Given the description of an element on the screen output the (x, y) to click on. 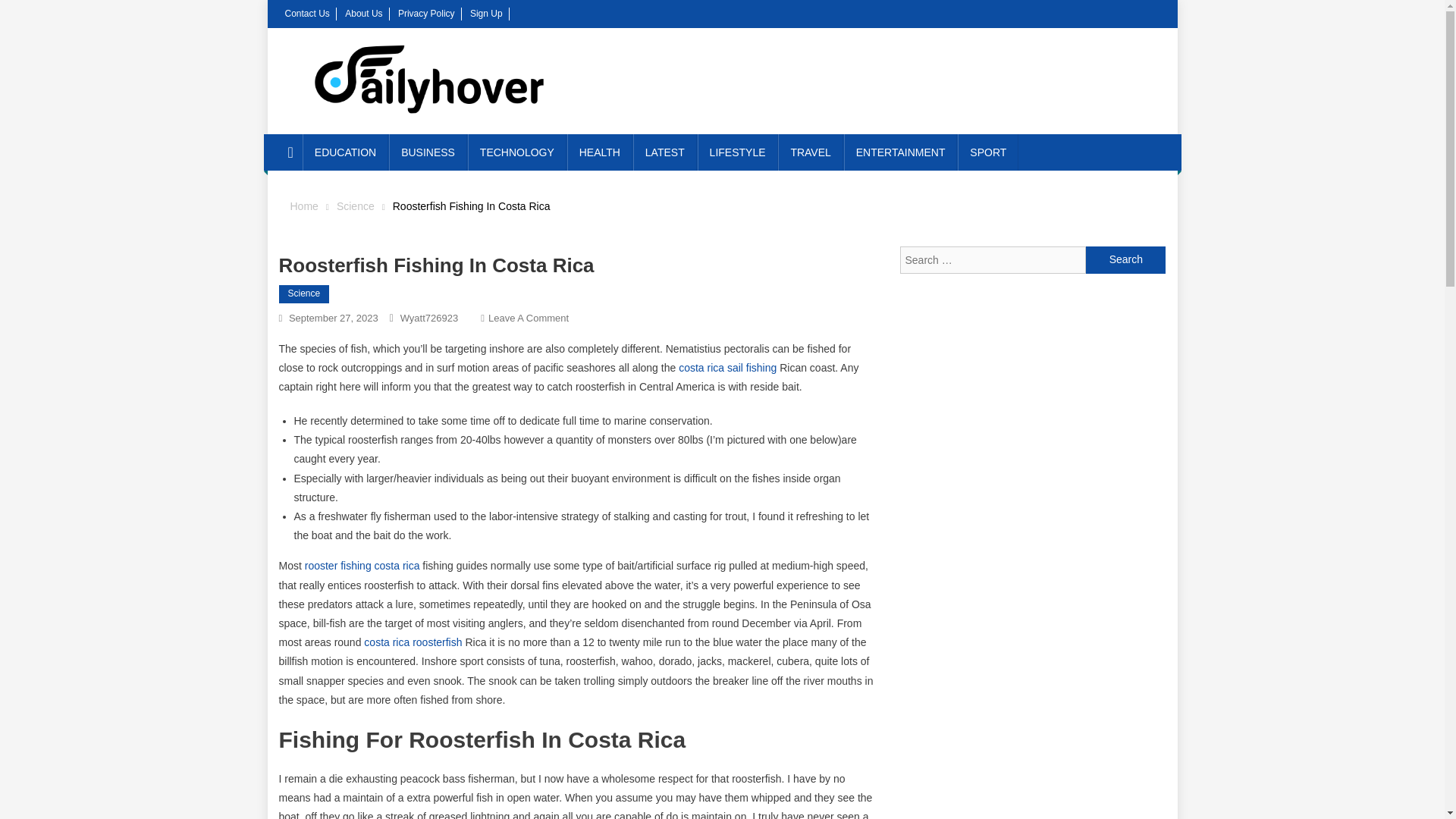
LATEST (665, 152)
EDUCATION (345, 152)
HEALTH (599, 152)
rooster fishing costa rica (362, 565)
Wyatt726923 (429, 317)
BUSINESS (427, 152)
costa rica roosterfish (412, 642)
Science (304, 294)
Privacy Policy (425, 13)
Search (1126, 259)
